Given the description of an element on the screen output the (x, y) to click on. 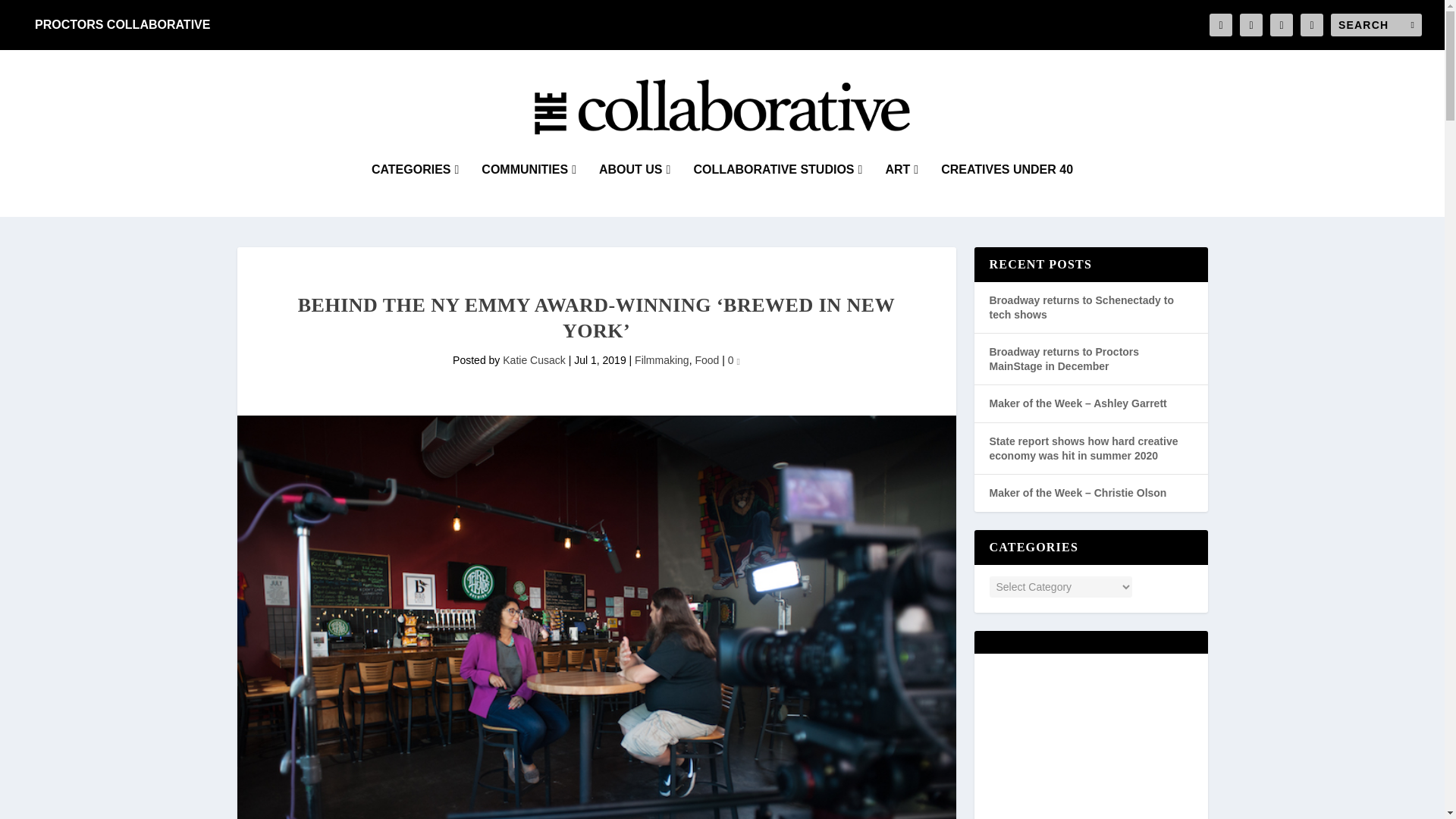
COMMUNITIES (528, 190)
Search for: (1376, 24)
Posts by Katie Cusack (533, 359)
comment count (737, 361)
PROCTORS COLLABORATIVE (122, 24)
CATEGORIES (414, 190)
